Given the description of an element on the screen output the (x, y) to click on. 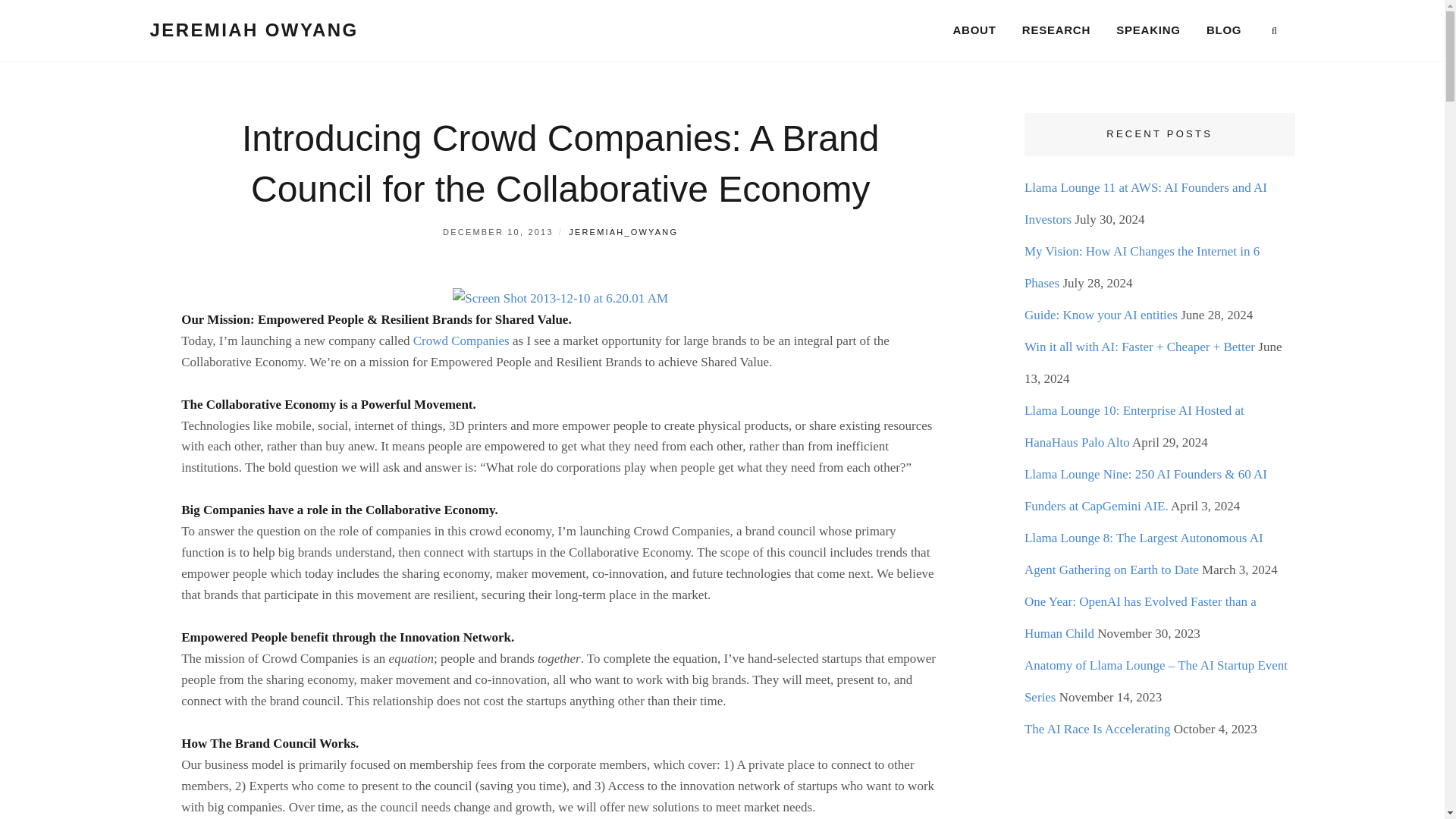
ABOUT (974, 29)
BLOG (1223, 29)
SPEAKING (1148, 29)
JEREMIAH OWYANG (253, 29)
SEARCH (1274, 31)
RESEARCH (1056, 29)
Crowd Companies (461, 340)
